Given the description of an element on the screen output the (x, y) to click on. 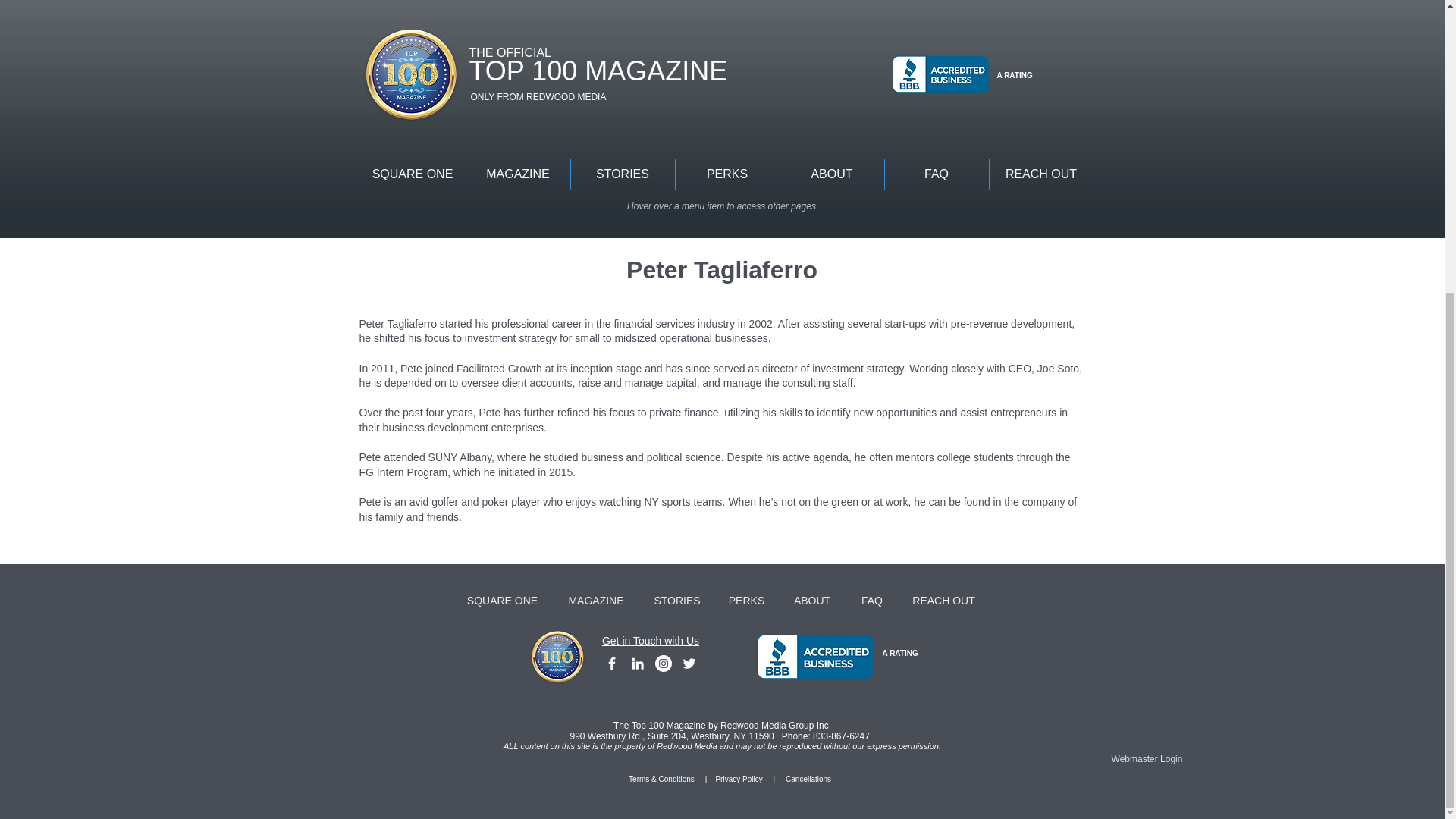
Privacy Policy (737, 778)
SQUARE ONE (501, 600)
Get in Touch with Us (650, 640)
FAQ (871, 600)
CONTACT PETE (479, 181)
REACH OUT (943, 600)
Webmaster Login (1146, 758)
Cancellations  (809, 778)
STORIES (677, 600)
MAGAZINE (595, 600)
